Given the description of an element on the screen output the (x, y) to click on. 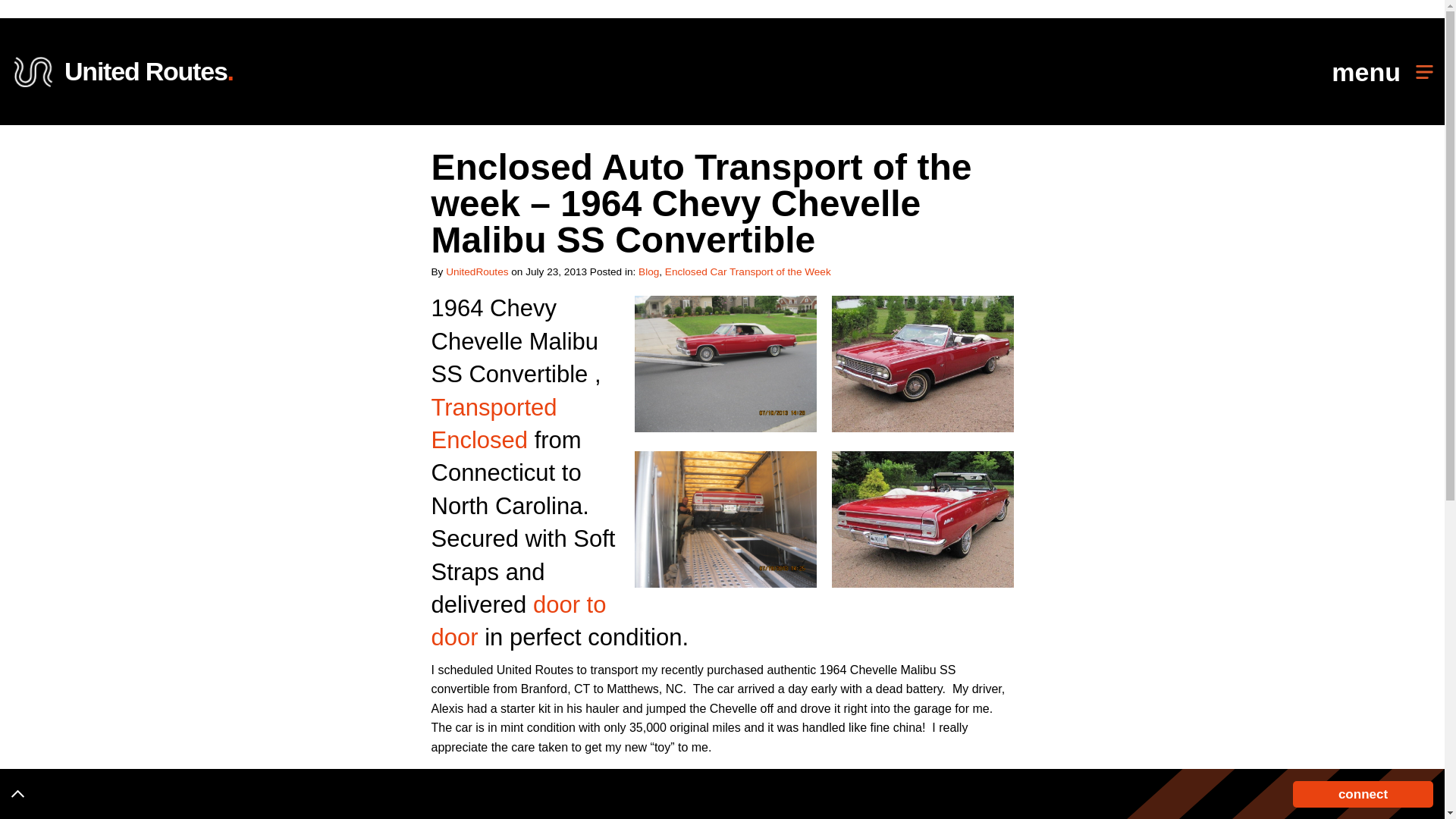
UnitedRoutes (476, 271)
Posts by UnitedRoutes (476, 271)
door to door car transport  (517, 620)
Enclosed Car Transport of the Week (748, 271)
Transport Car Enclosed  (493, 423)
connect (1362, 794)
menu (1382, 71)
Transported Enclosed (493, 423)
door to door (517, 620)
Blog (121, 71)
